Given the description of an element on the screen output the (x, y) to click on. 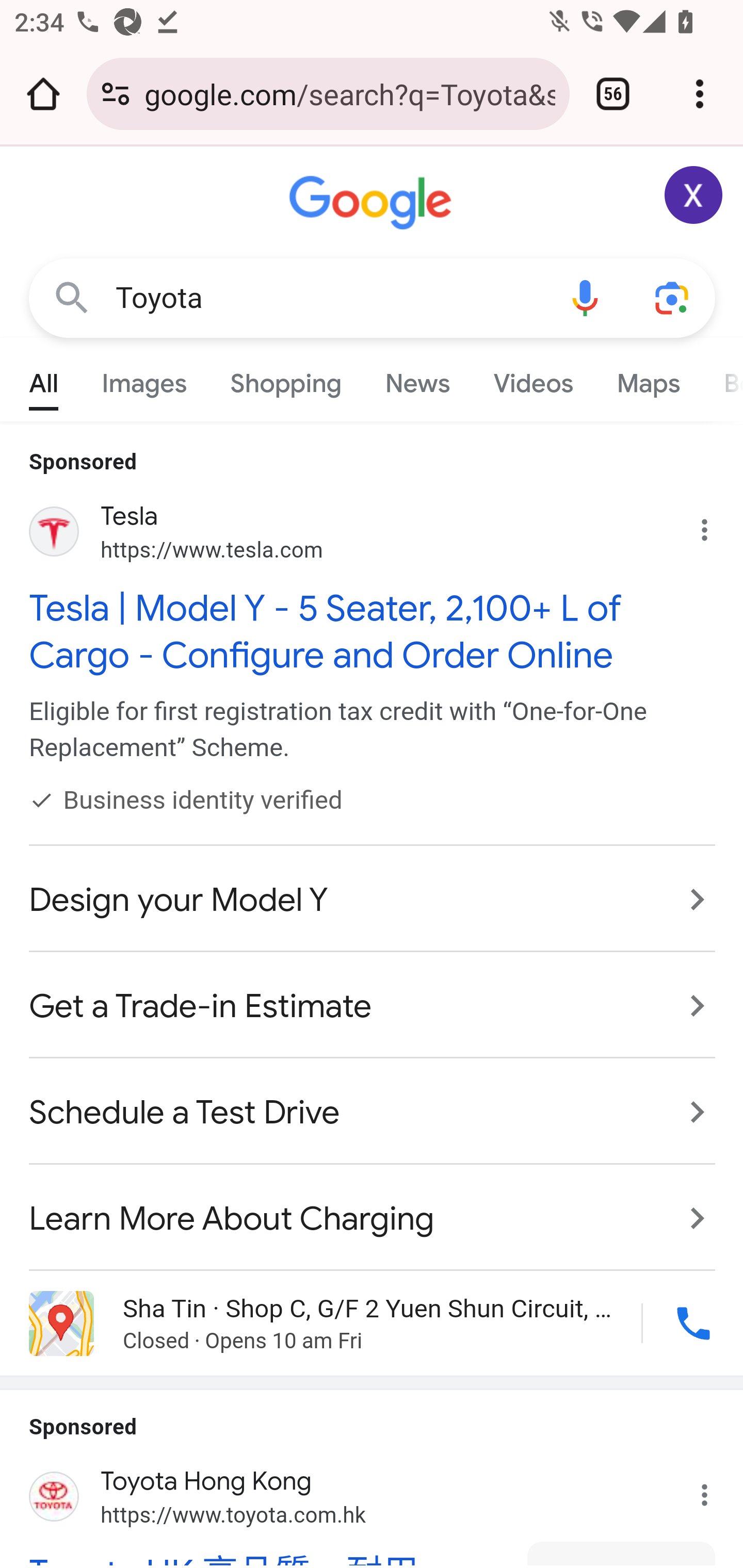
Open the home page (43, 93)
Connection is secure (115, 93)
Switch or close tabs (612, 93)
Customize and control Google Chrome (699, 93)
Google (372, 203)
Google Account: Xiaoran (zxrappiumtest@gmail.com) (694, 195)
Google Search (71, 296)
Search using your camera or photos (672, 296)
Toyota (328, 297)
Images (144, 378)
Shopping (285, 378)
News (417, 378)
Videos (533, 378)
Maps (647, 378)
Why this ad? (714, 525)
Design your Model Y (372, 899)
Get a Trade-in Estimate (372, 1006)
Schedule a Test Drive (372, 1112)
Learn More About Charging (372, 1208)
Why this ad? (714, 1488)
